Given the description of an element on the screen output the (x, y) to click on. 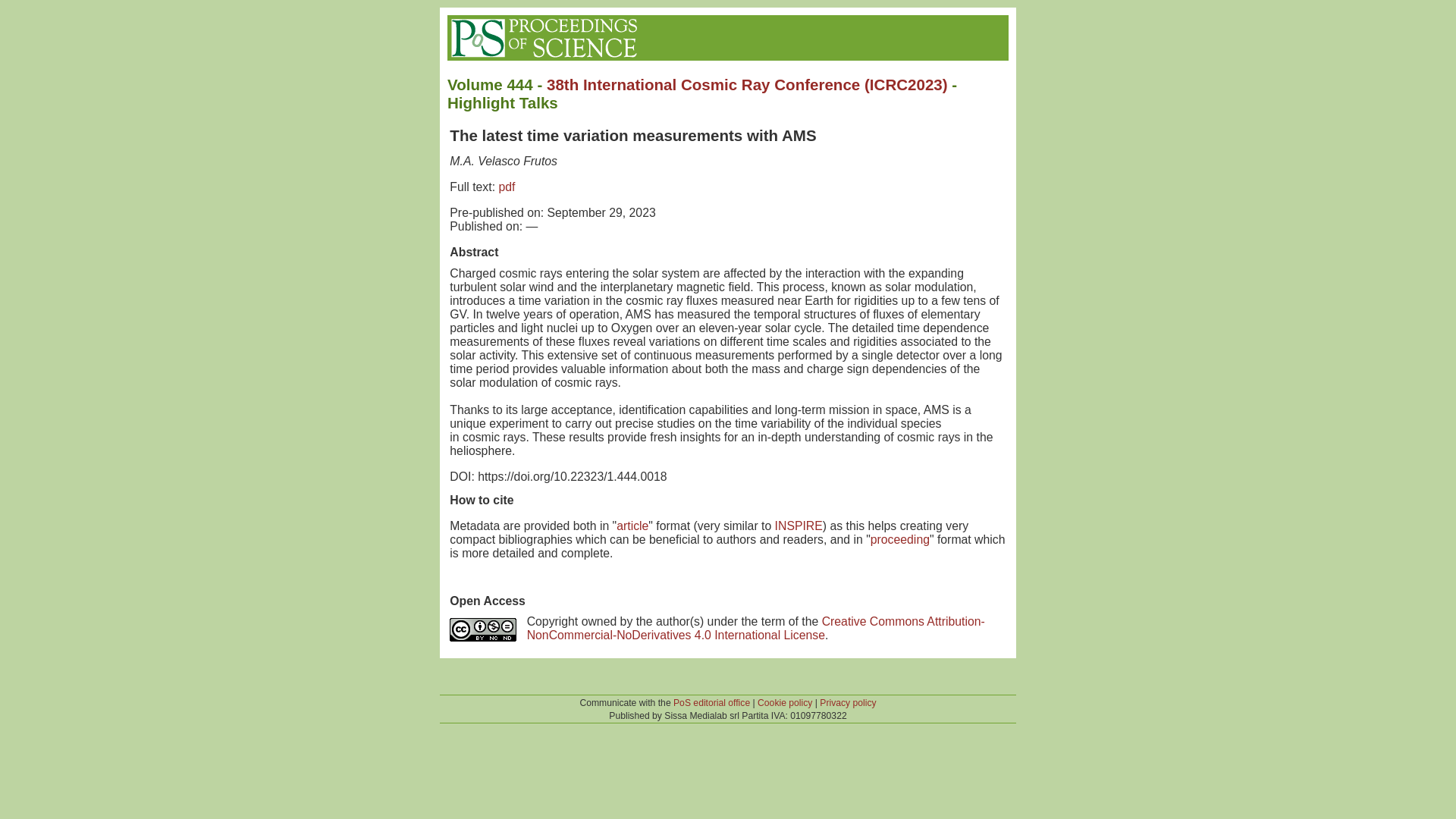
Privacy policy (847, 702)
proceeding (900, 539)
Privacy policy (847, 702)
pdf (506, 186)
Cookie policy (784, 702)
Cookie policy (784, 702)
PoS editorial office (710, 702)
article (631, 525)
INSPIRE (798, 525)
